Given the description of an element on the screen output the (x, y) to click on. 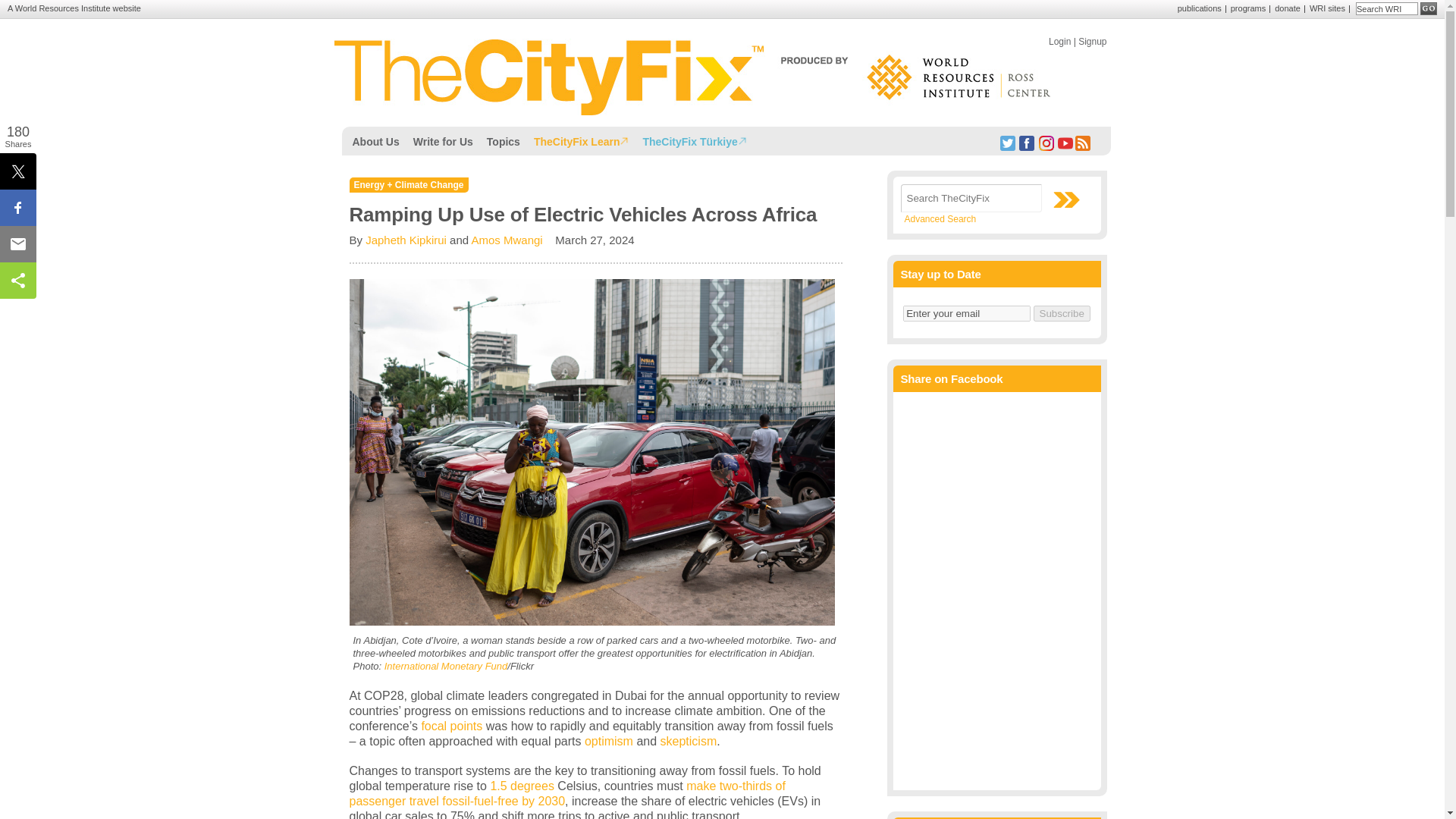
Enter your email (966, 313)
programs (1247, 8)
Login (1059, 41)
Posts by Japheth Kipkirui (405, 239)
Search WRI (1386, 8)
Signup (1092, 41)
Posts by Amos Mwangi (505, 239)
TheCityFix Learn (581, 140)
donate (1287, 8)
World Resources Institute (62, 8)
WRI sites (1326, 8)
About Us (376, 140)
Write for Us (443, 140)
Go (1429, 8)
Go (1429, 8)
